Given the description of an element on the screen output the (x, y) to click on. 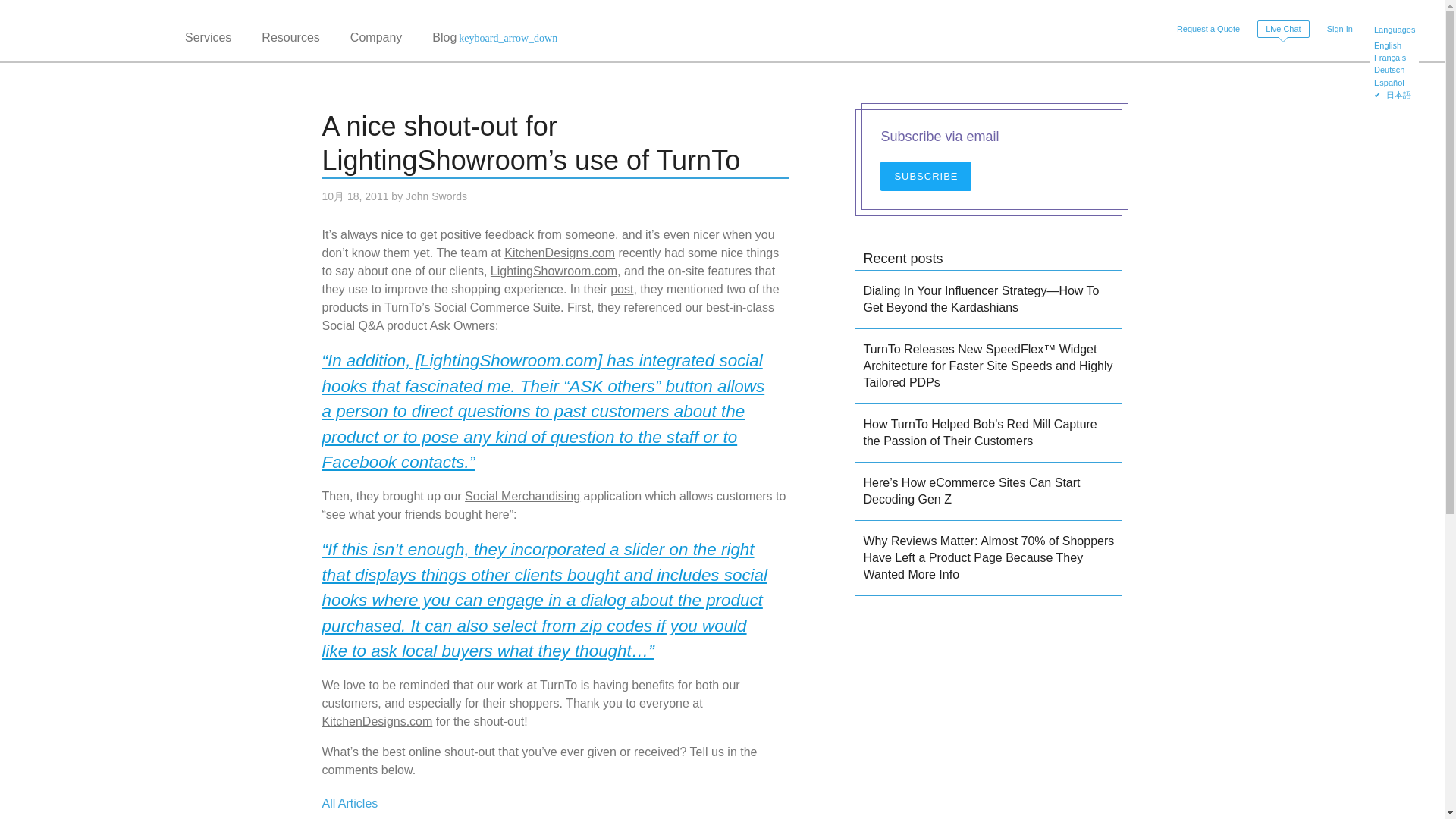
KitchenDesigns.com (558, 252)
Ask Owners (462, 325)
TurnTo (95, 29)
English (1394, 46)
KitchenDesigns.com (376, 721)
Deutsch (1394, 70)
Sign In (1339, 29)
LightingShowroom.com (553, 270)
post (621, 288)
Request a Quote (1208, 29)
Social Merchandising (521, 495)
Live Chat (1282, 28)
All Articles (349, 802)
SUBSCRIBE (925, 175)
